Given the description of an element on the screen output the (x, y) to click on. 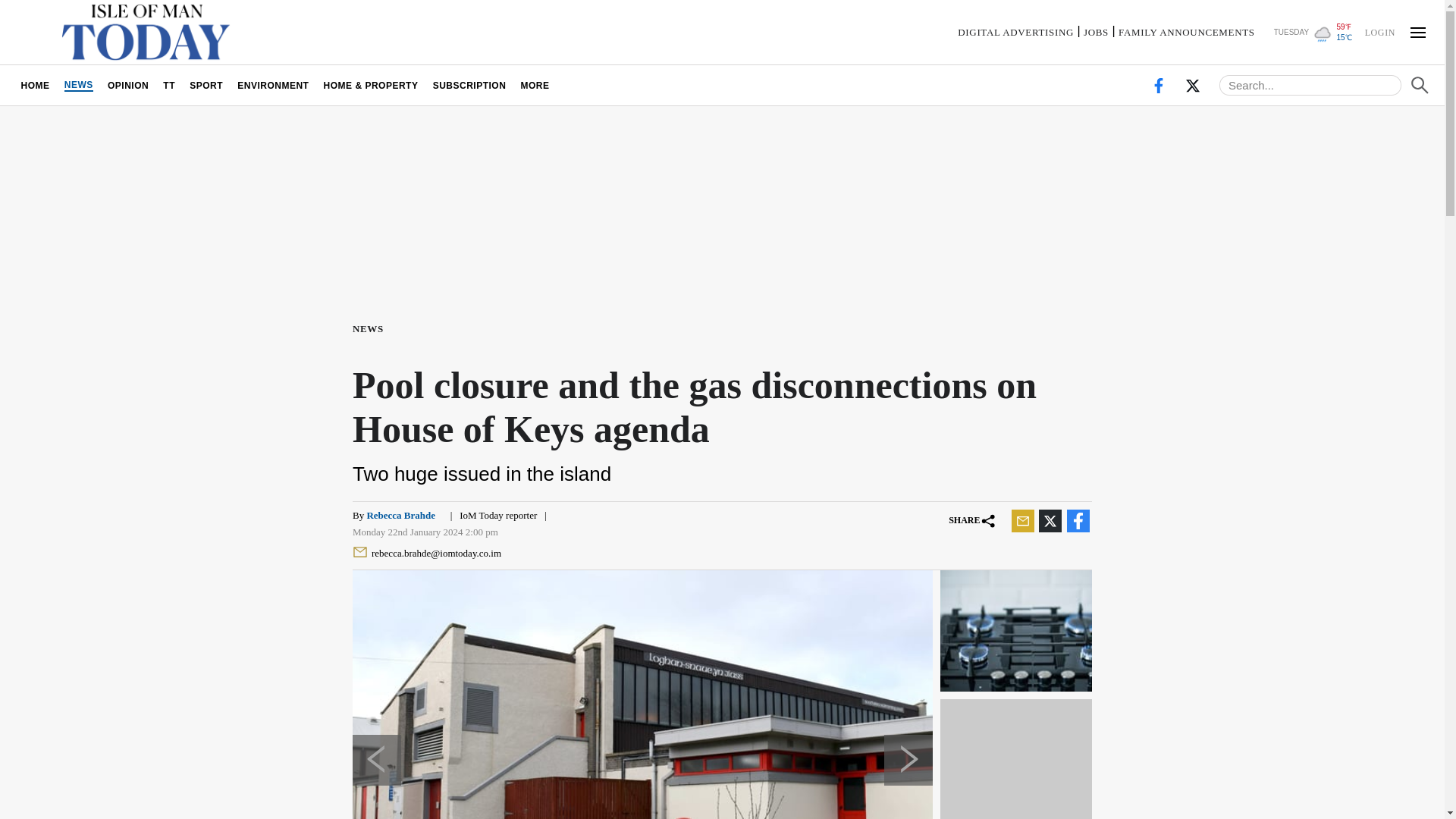
SUBSCRIPTION (469, 85)
ENVIRONMENT (272, 85)
HOME (34, 85)
OPINION (127, 85)
NEWS (371, 328)
NEWS (78, 85)
LOGIN (1379, 31)
FAMILY ANNOUNCEMENTS (1186, 32)
SPORT (206, 85)
Rebecca Brahde (400, 514)
